Given the description of an element on the screen output the (x, y) to click on. 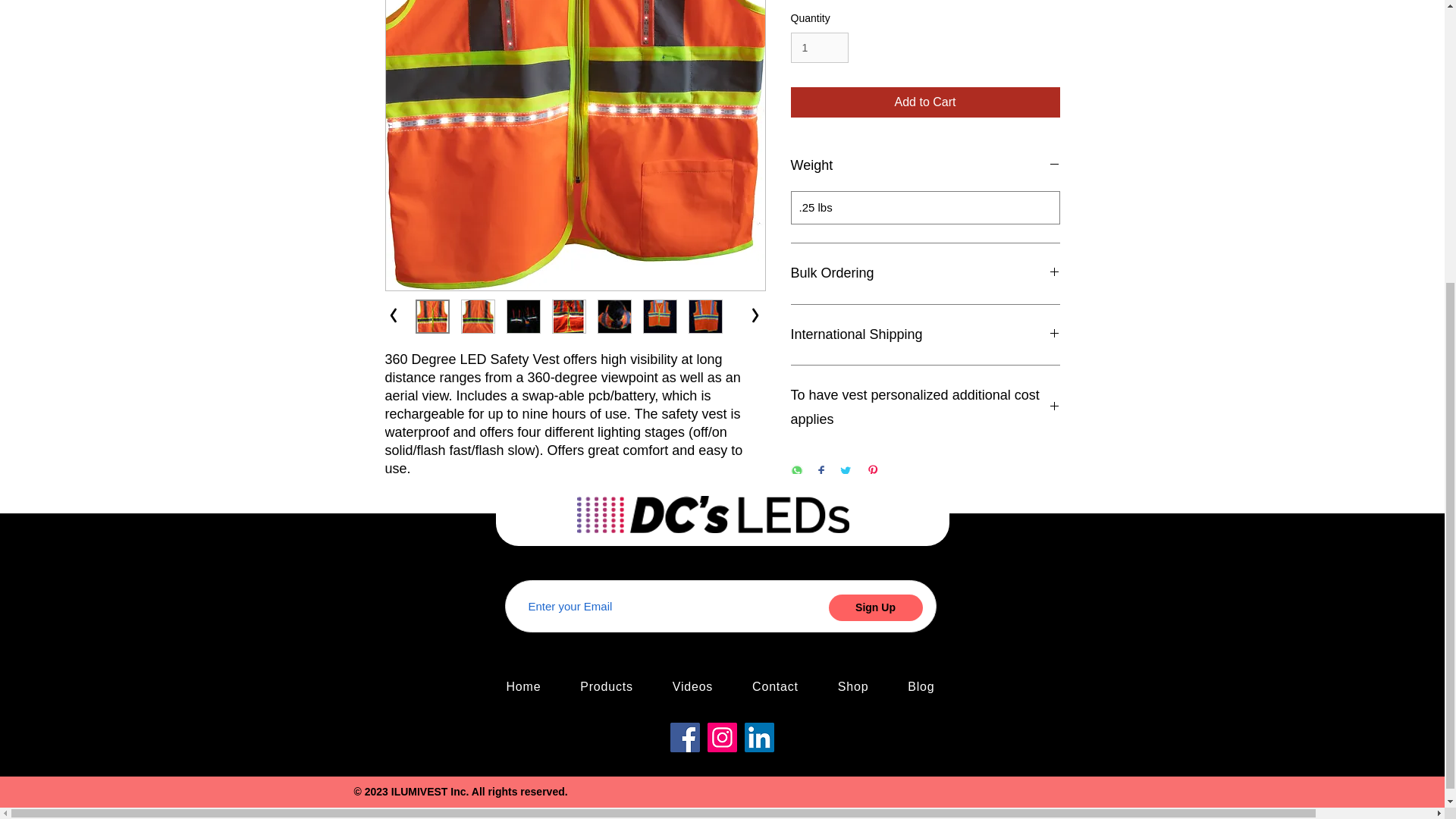
Home (523, 686)
Shop (853, 686)
Products (606, 686)
Weight (924, 165)
To have vest personalized additional cost applies (924, 407)
Add to Cart (924, 101)
Sign Up (874, 607)
International Shipping (924, 334)
Videos (692, 686)
Bulk Ordering (924, 273)
